Given the description of an element on the screen output the (x, y) to click on. 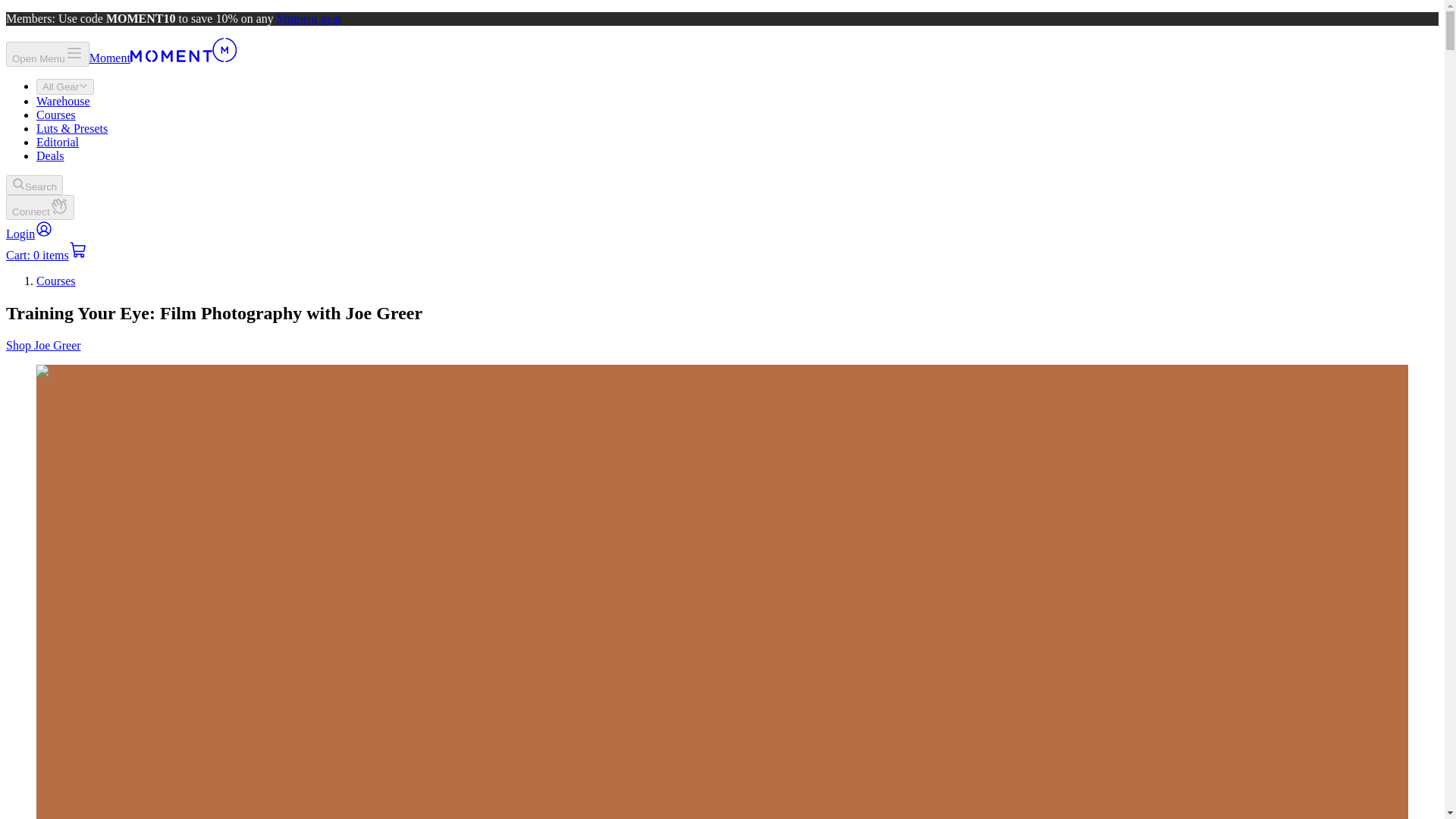
Courses (55, 114)
Moment (161, 57)
Cart: 0 items (46, 254)
Warehouse (63, 101)
Open Menu (46, 53)
Connect (39, 207)
Moment gear (309, 18)
Search (33, 184)
Courses (55, 280)
All Gear (65, 86)
